Given the description of an element on the screen output the (x, y) to click on. 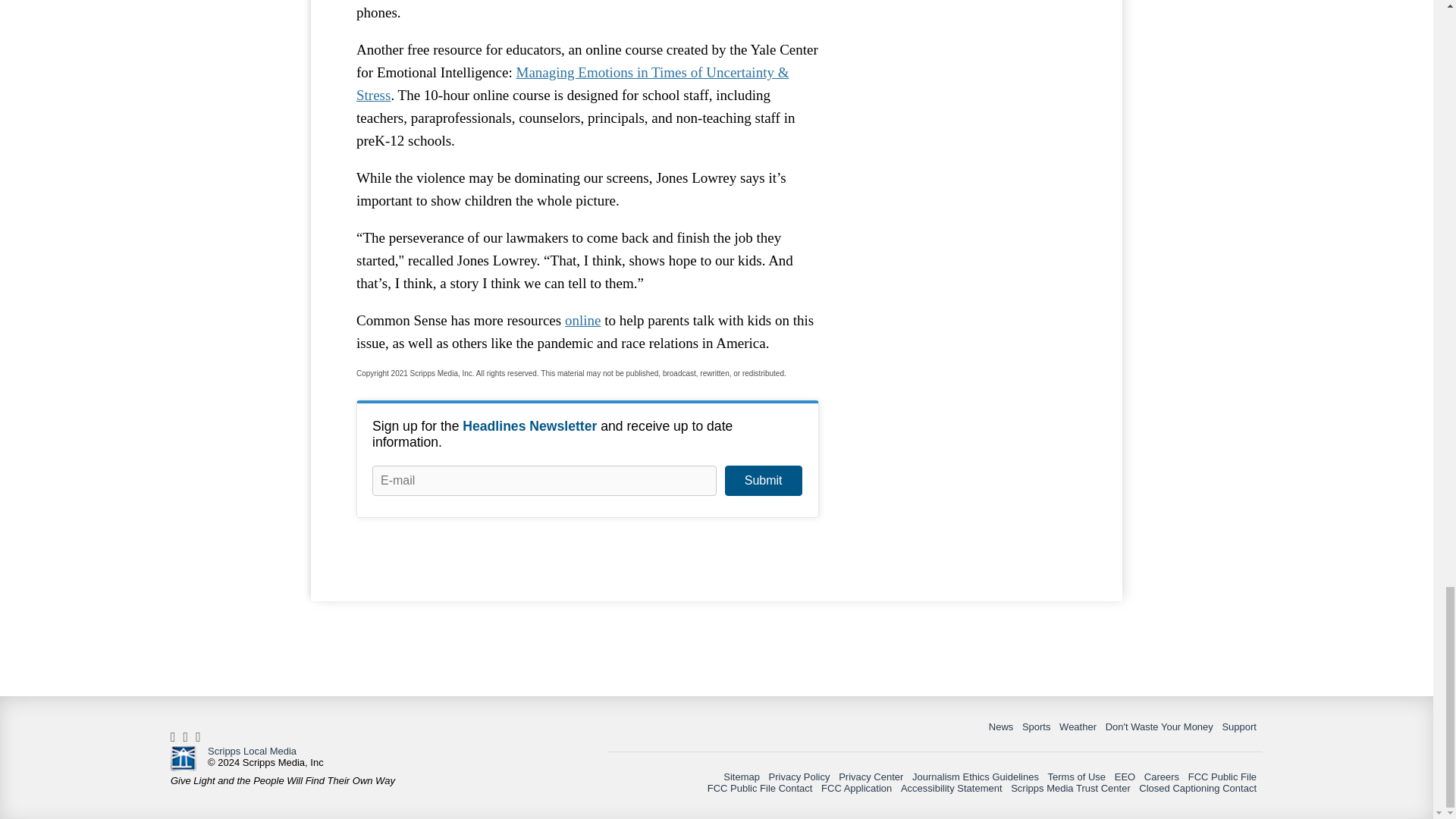
Submit (763, 481)
